Given the description of an element on the screen output the (x, y) to click on. 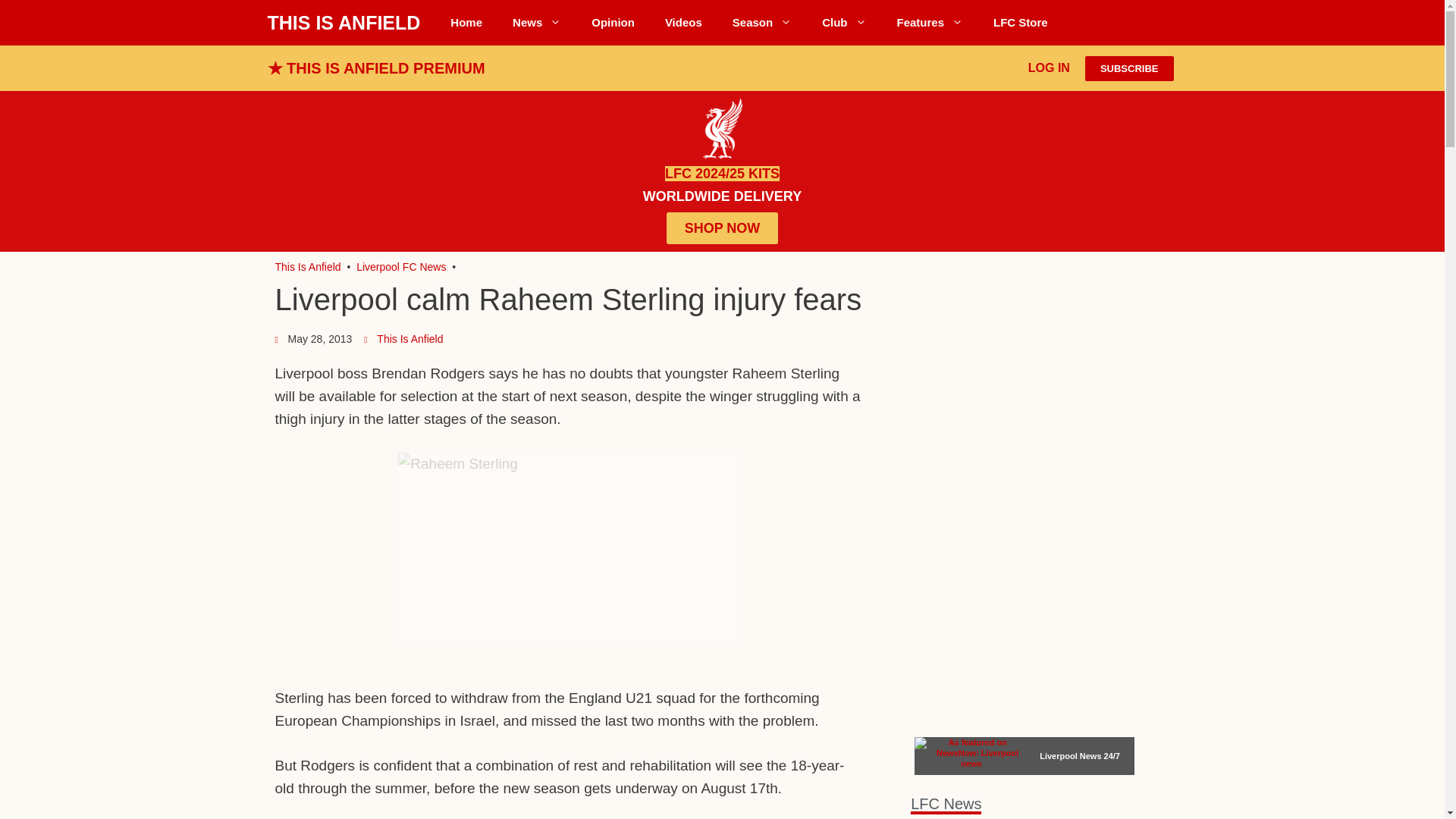
THIS IS ANFIELD (343, 22)
Home (466, 22)
Liverpool FC Opinion (612, 22)
Season (761, 22)
Opinion (612, 22)
Liverpool FC Videos (683, 22)
Liverpool FC (307, 266)
News (536, 22)
Club (843, 22)
Features (929, 22)
